Given the description of an element on the screen output the (x, y) to click on. 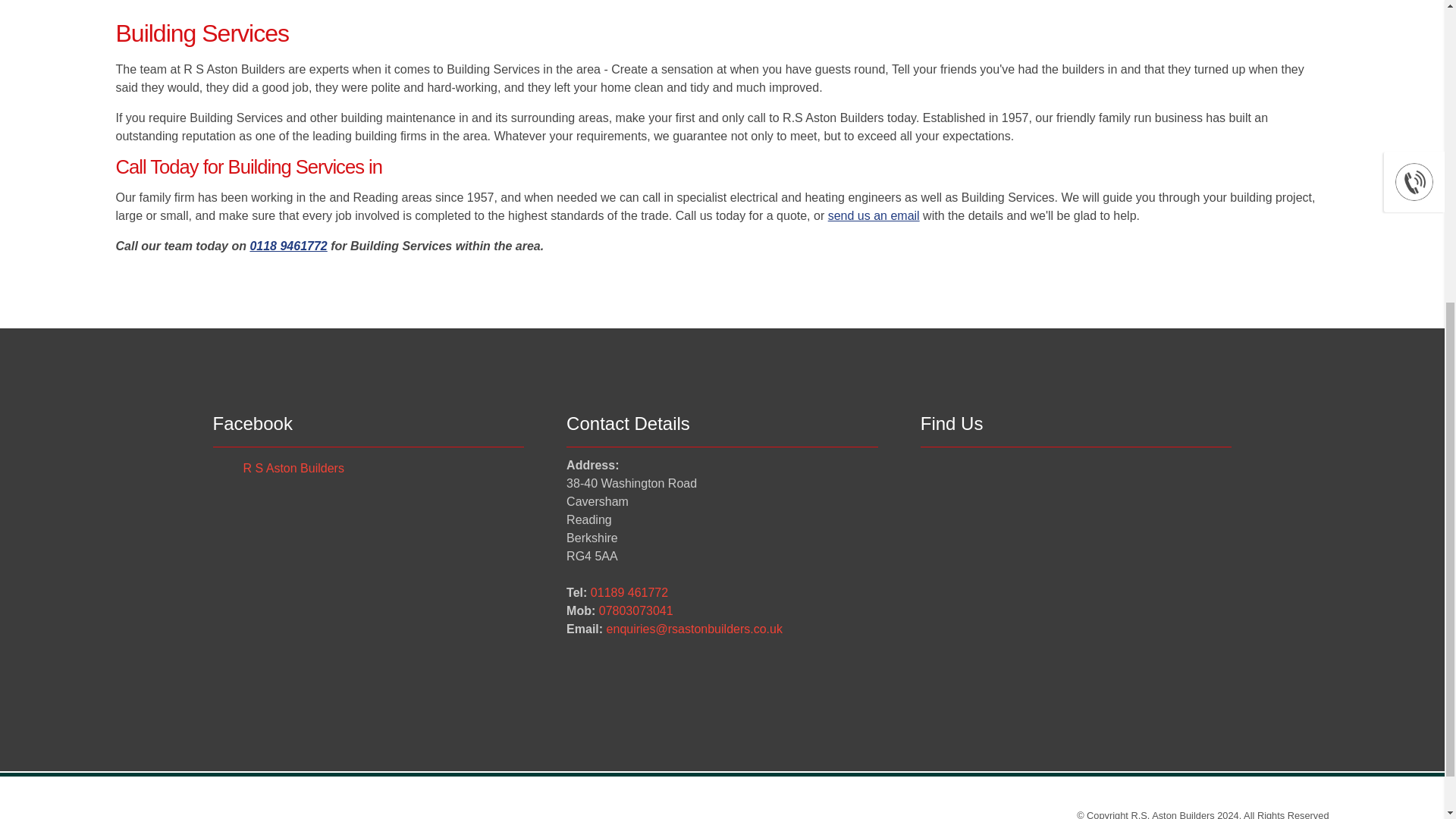
0118 9461772 (287, 245)
send us an email (874, 215)
R S Aston Builders (293, 468)
